Given the description of an element on the screen output the (x, y) to click on. 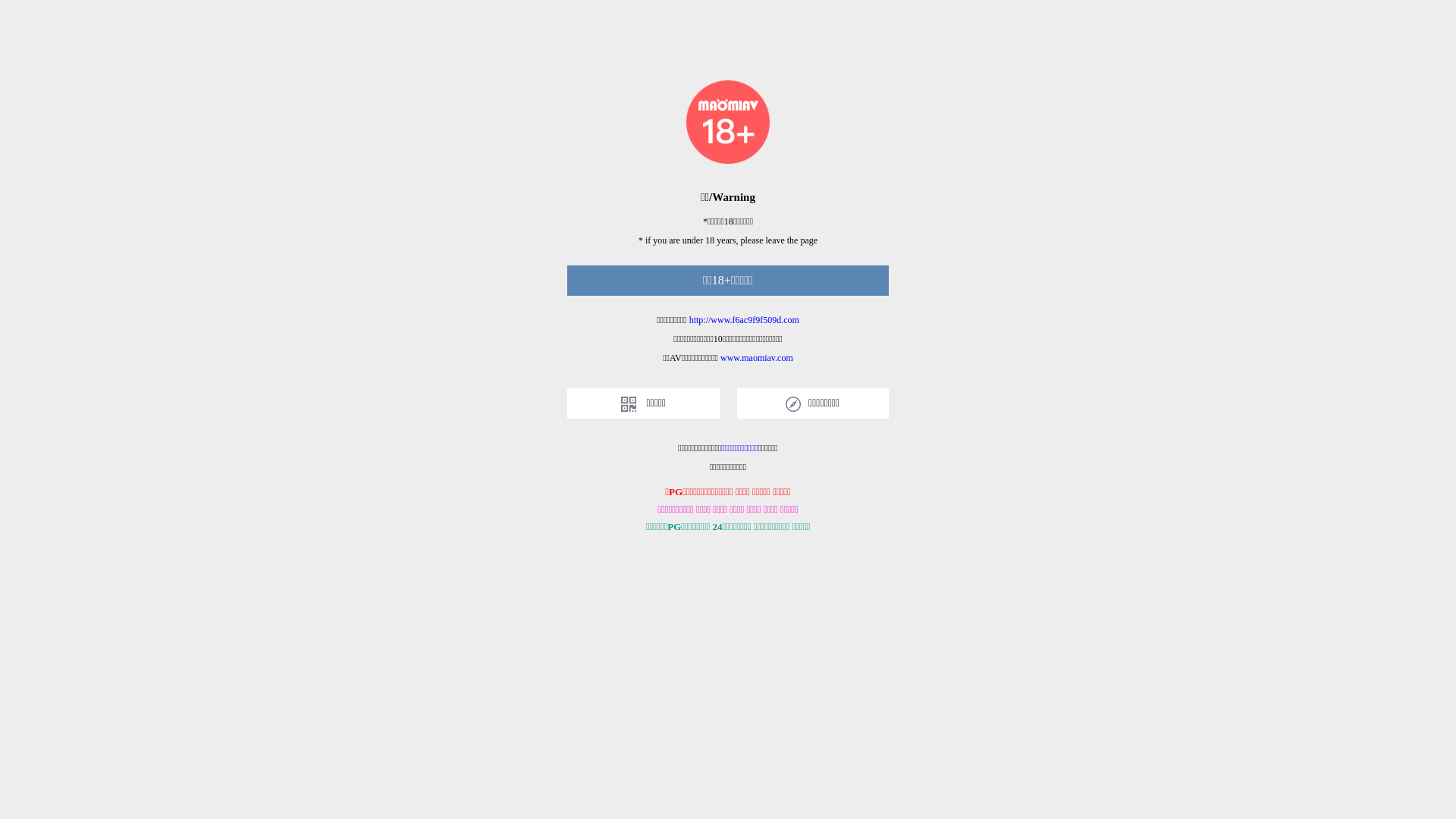
http://www.f6ac9f9f509d.com Element type: text (744, 319)
www.maomiav.com Element type: text (756, 357)
